Given the description of an element on the screen output the (x, y) to click on. 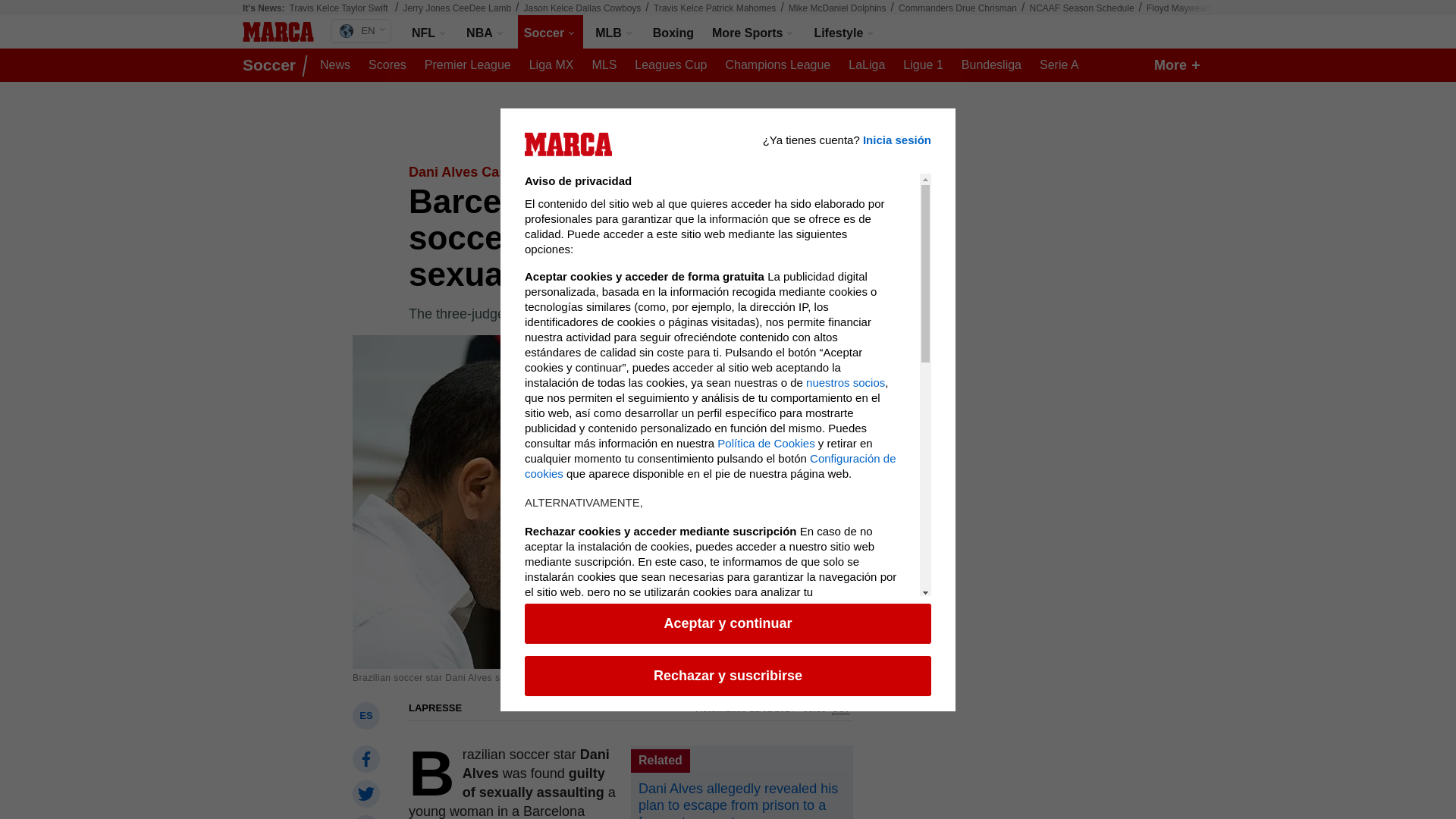
Mike McDaniel Dolphins (837, 8)
Jerry Jones CeeDee Lamb (457, 8)
LaLiga (867, 64)
Commanders Drue Chrisman (957, 8)
NCAAF Season Schedule (1081, 8)
Champions League (777, 64)
Travis Kelce Patrick Mahomes (714, 8)
Premier League (467, 64)
Boxing (673, 31)
Soccer (550, 31)
